Given the description of an element on the screen output the (x, y) to click on. 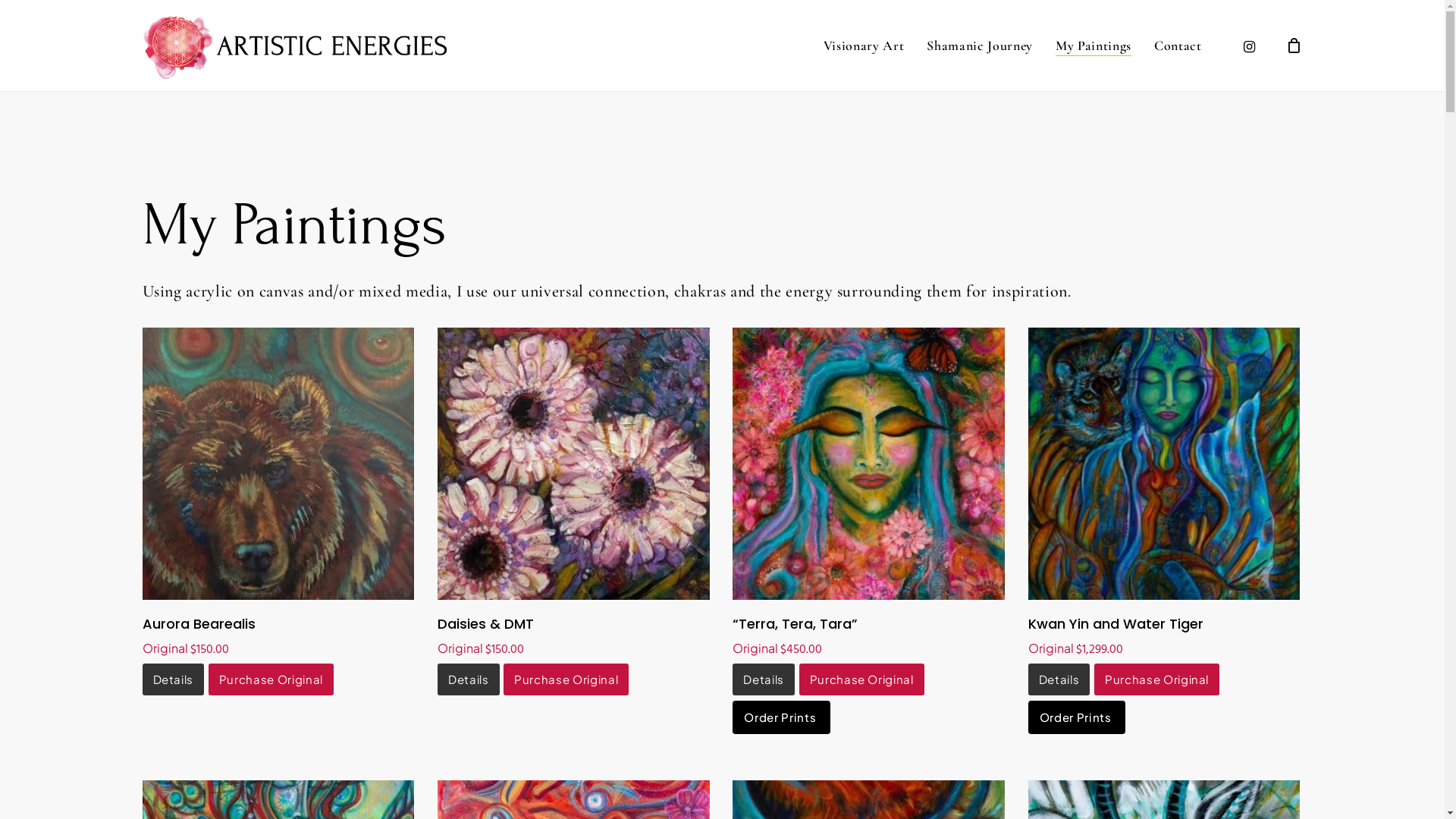
Details Element type: text (468, 679)
Purchase Original Element type: text (861, 679)
Details Element type: text (1059, 679)
instagram Element type: text (1249, 45)
Visionary Art Element type: text (863, 44)
Details Element type: text (763, 679)
Details Element type: text (173, 679)
Purchase Original Element type: text (565, 679)
My Paintings Element type: text (1093, 44)
Order Prints Element type: text (1077, 717)
Purchase Original Element type: text (270, 679)
Contact Element type: text (1177, 44)
Order Prints Element type: text (781, 717)
Shamanic Journey Element type: text (979, 44)
Purchase Original Element type: text (1156, 679)
